Given the description of an element on the screen output the (x, y) to click on. 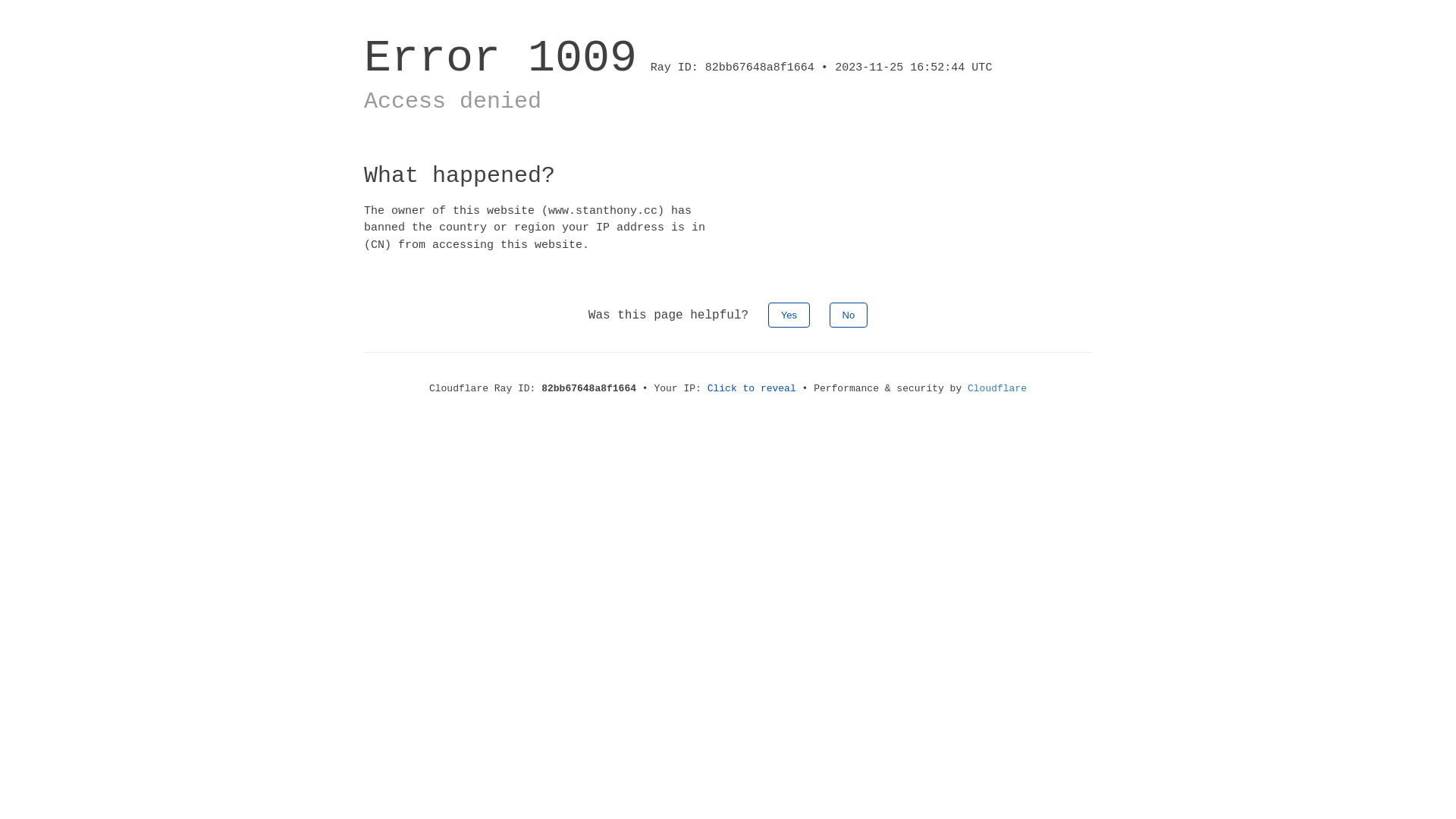
Cloudflare Element type: text (996, 388)
No Element type: text (848, 314)
Yes Element type: text (788, 314)
Click to reveal Element type: text (751, 388)
